Given the description of an element on the screen output the (x, y) to click on. 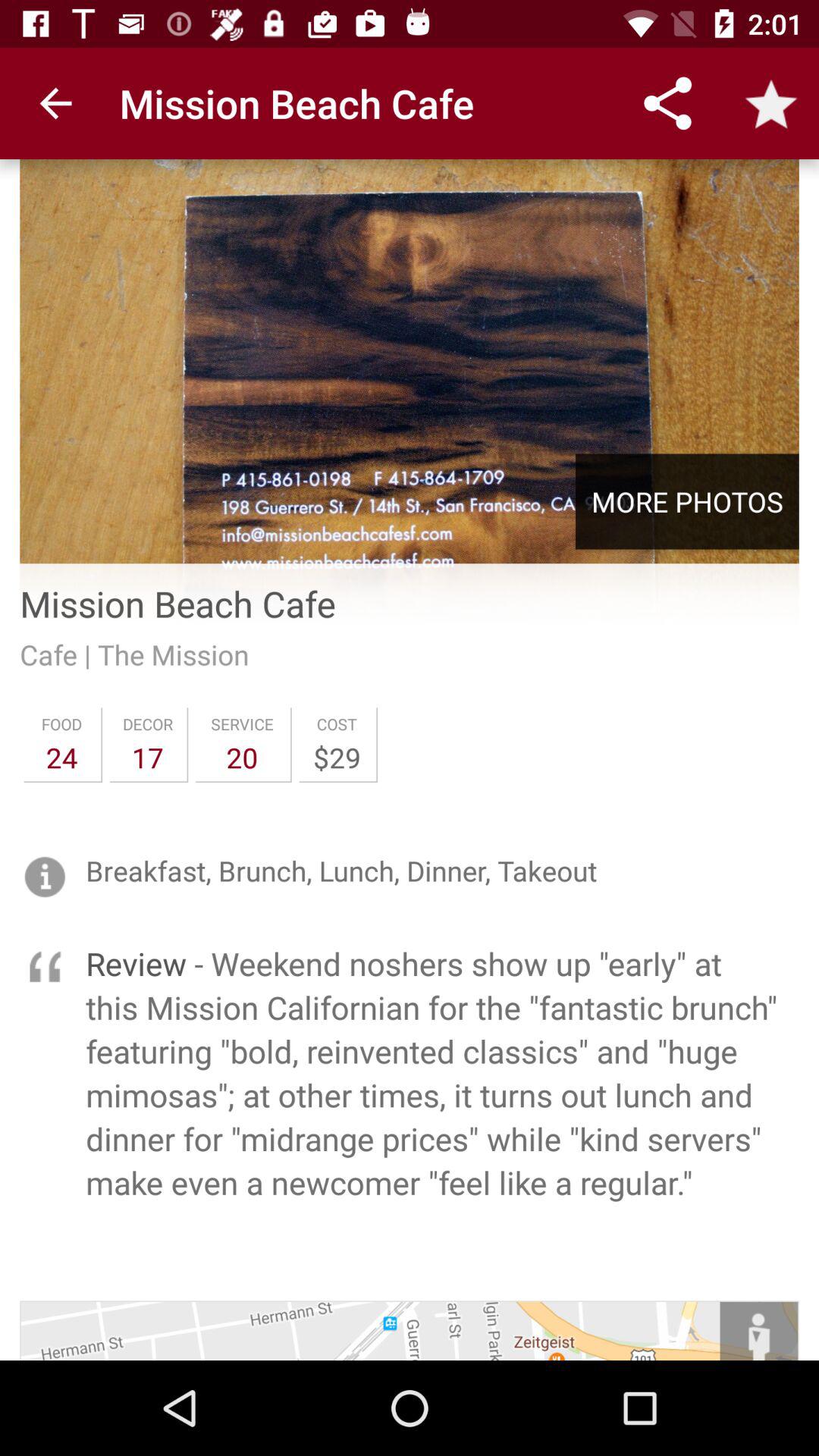
turn off the icon above mission beach cafe (409, 354)
